Given the description of an element on the screen output the (x, y) to click on. 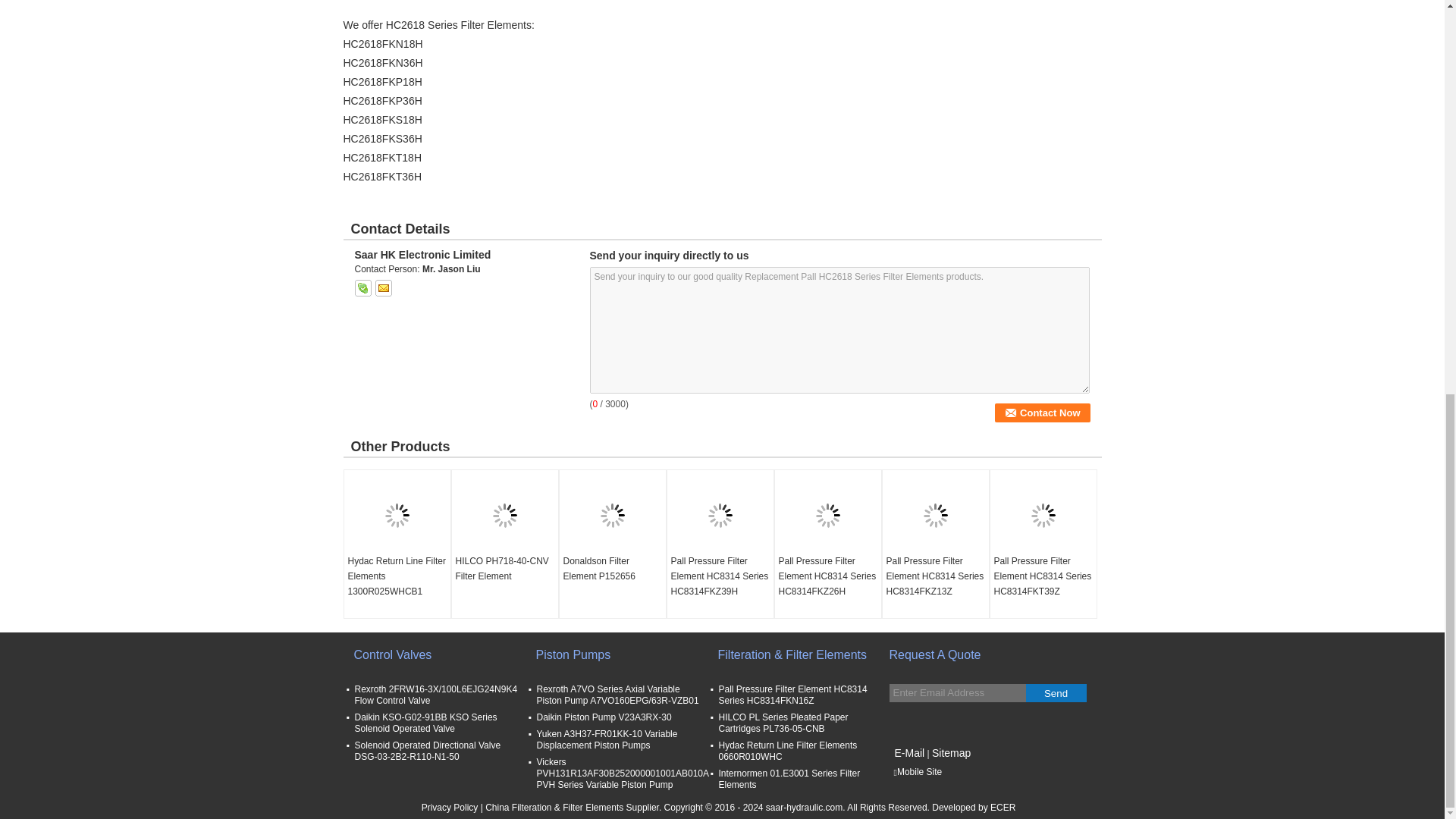
Hydac Return Line Filter Elements 1300R025WHCB1 (396, 575)
Pall Pressure Filter Element HC8314 Series HC8314FKT39Z (1043, 575)
Hydac Return Line Filter Elements 1300R025WHCB1 (396, 575)
Solenoid Operated Directional Valve DSG-03-2B2-R110-N1-50 (427, 751)
Pall Pressure Filter Element HC8314 Series HC8314FKZ26H (827, 575)
Daikin KSO-G02-91BB KSO Series Solenoid Operated Valve (426, 722)
Contact Now (1041, 412)
Pall Pressure Filter Element HC8314 Series HC8314FKZ13Z (935, 575)
Saar HK Electronic Limited Skype (363, 288)
Pall Pressure Filter Element HC8314 Series HC8314FKZ39H (719, 575)
